Given the description of an element on the screen output the (x, y) to click on. 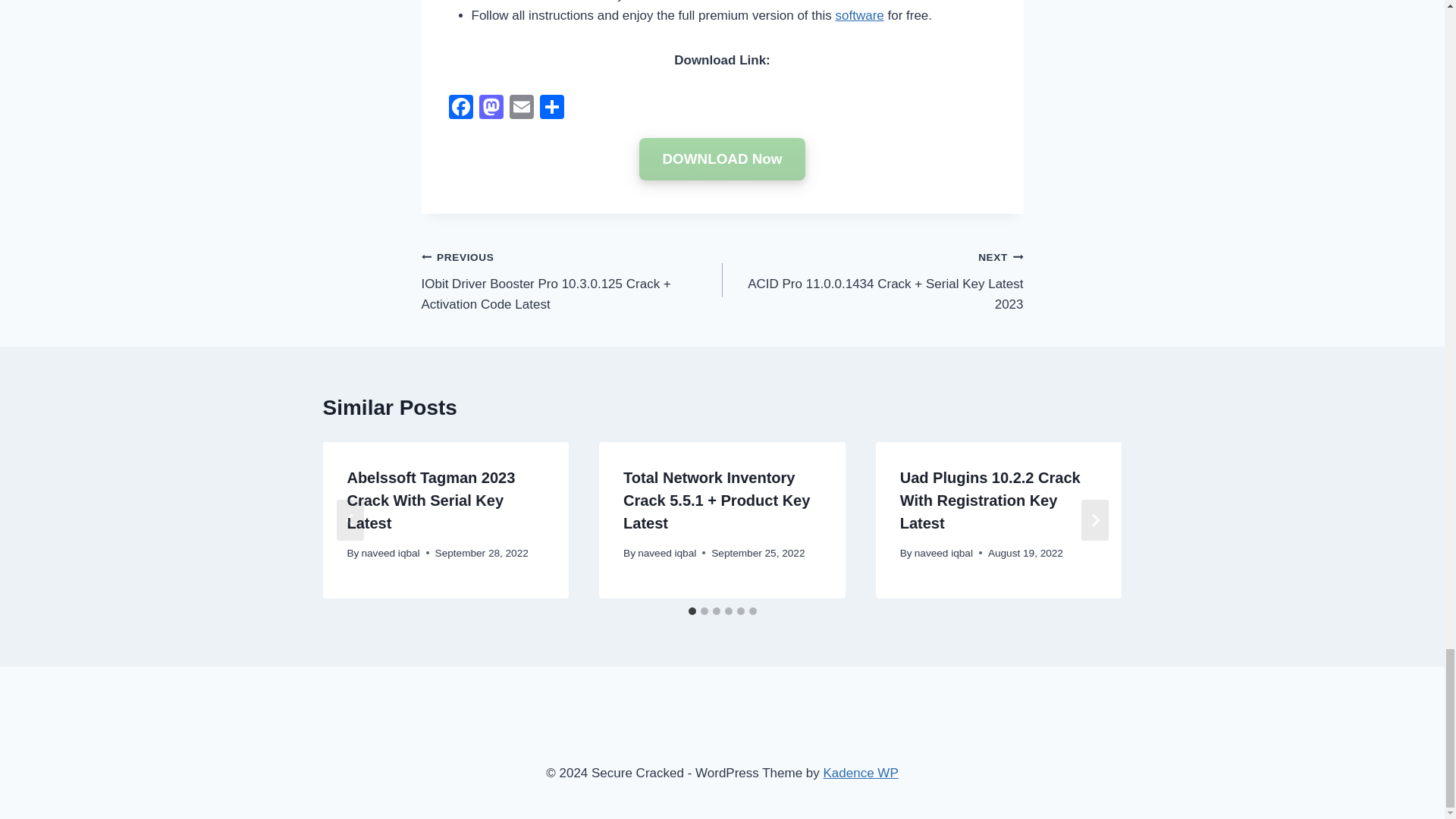
DOWNLOAD Now (721, 159)
Mastodon (491, 108)
Share (552, 108)
Email (521, 108)
software (859, 15)
Facebook (460, 108)
Mastodon (491, 108)
Email (521, 108)
Facebook (460, 108)
DOWNLOAD Now (722, 159)
